Given the description of an element on the screen output the (x, y) to click on. 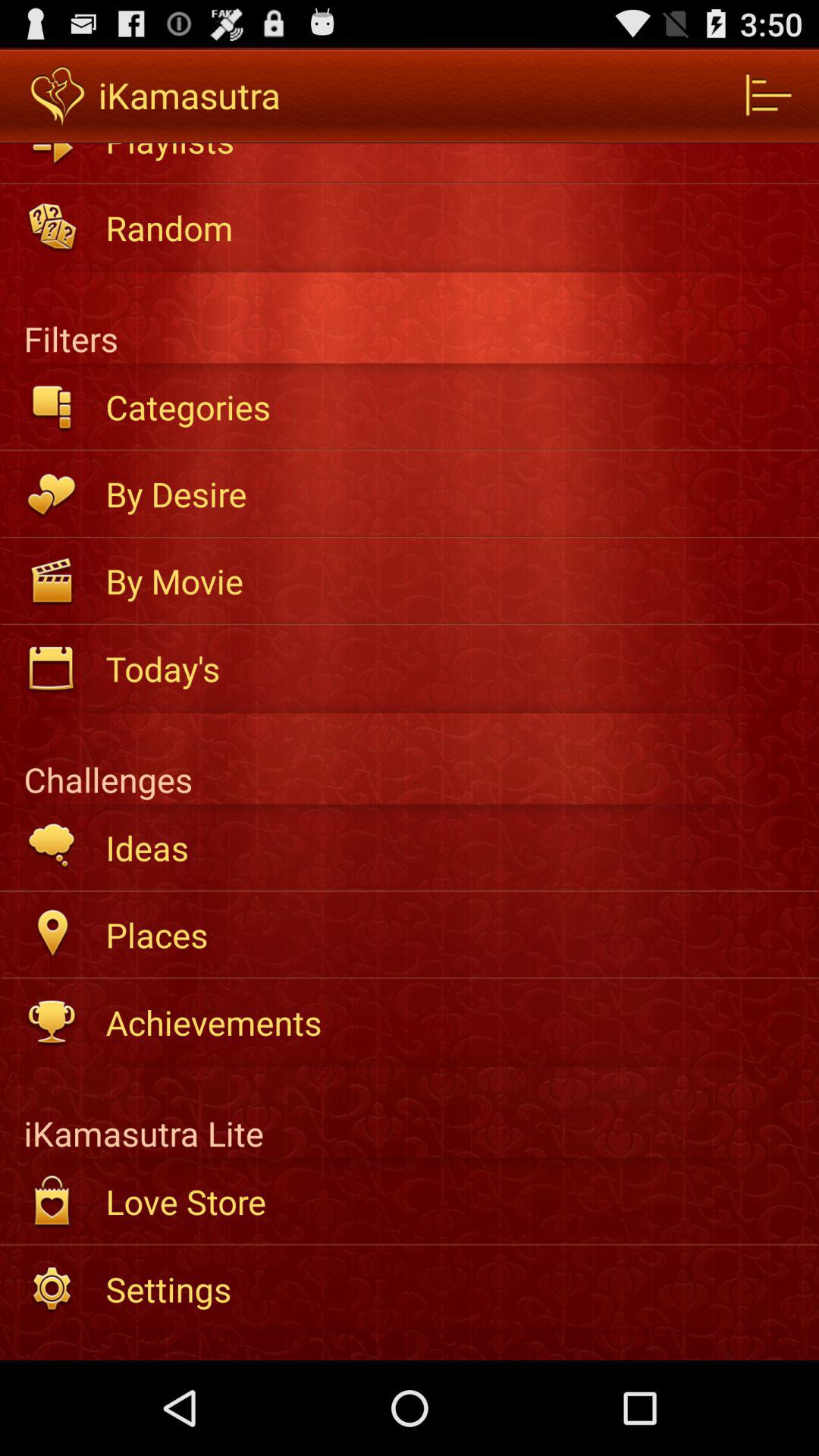
open the by desire app (452, 493)
